Given the description of an element on the screen output the (x, y) to click on. 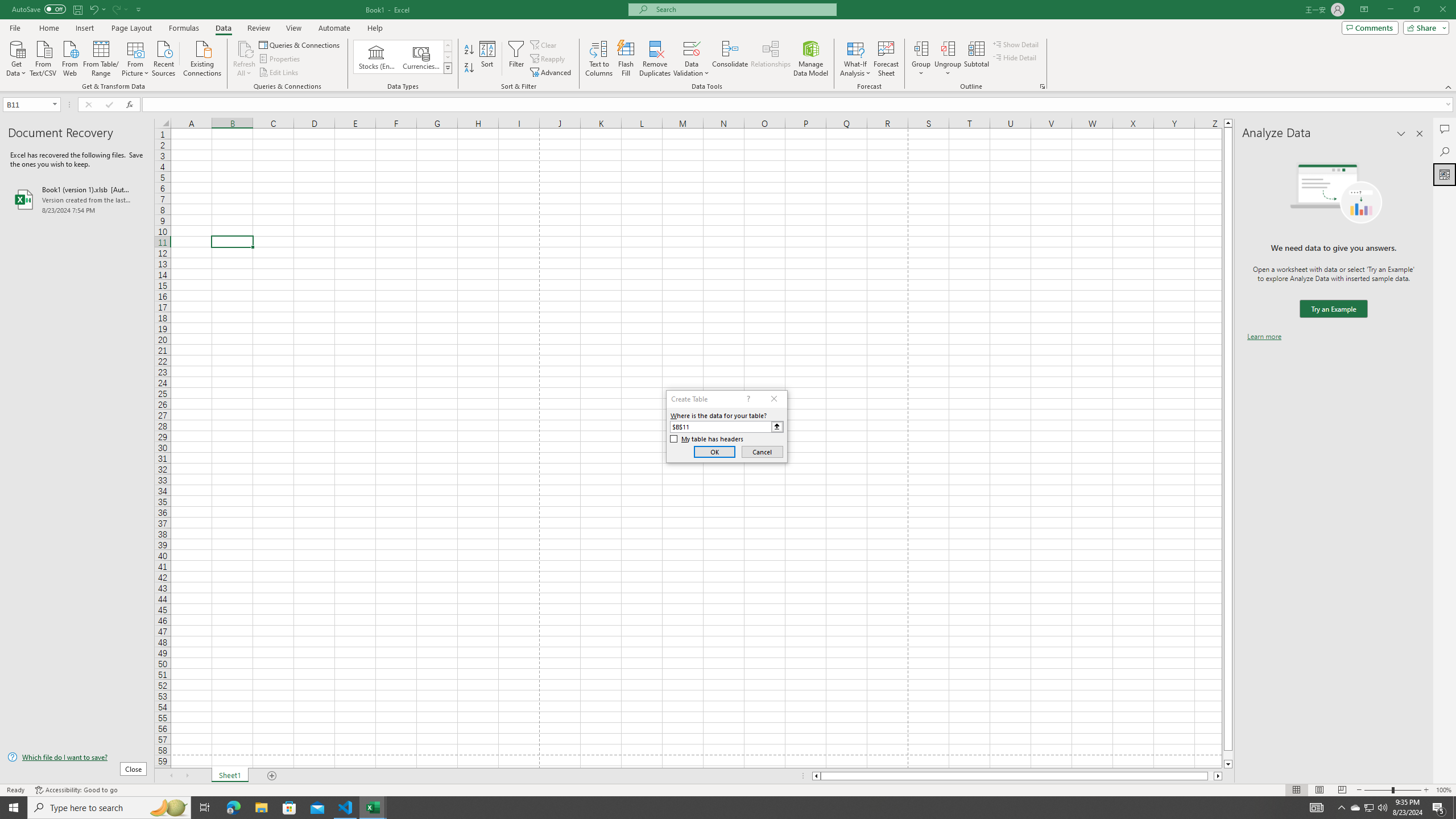
From Text/CSV (43, 57)
Reapply (548, 58)
Existing Connections (202, 57)
